Given the description of an element on the screen output the (x, y) to click on. 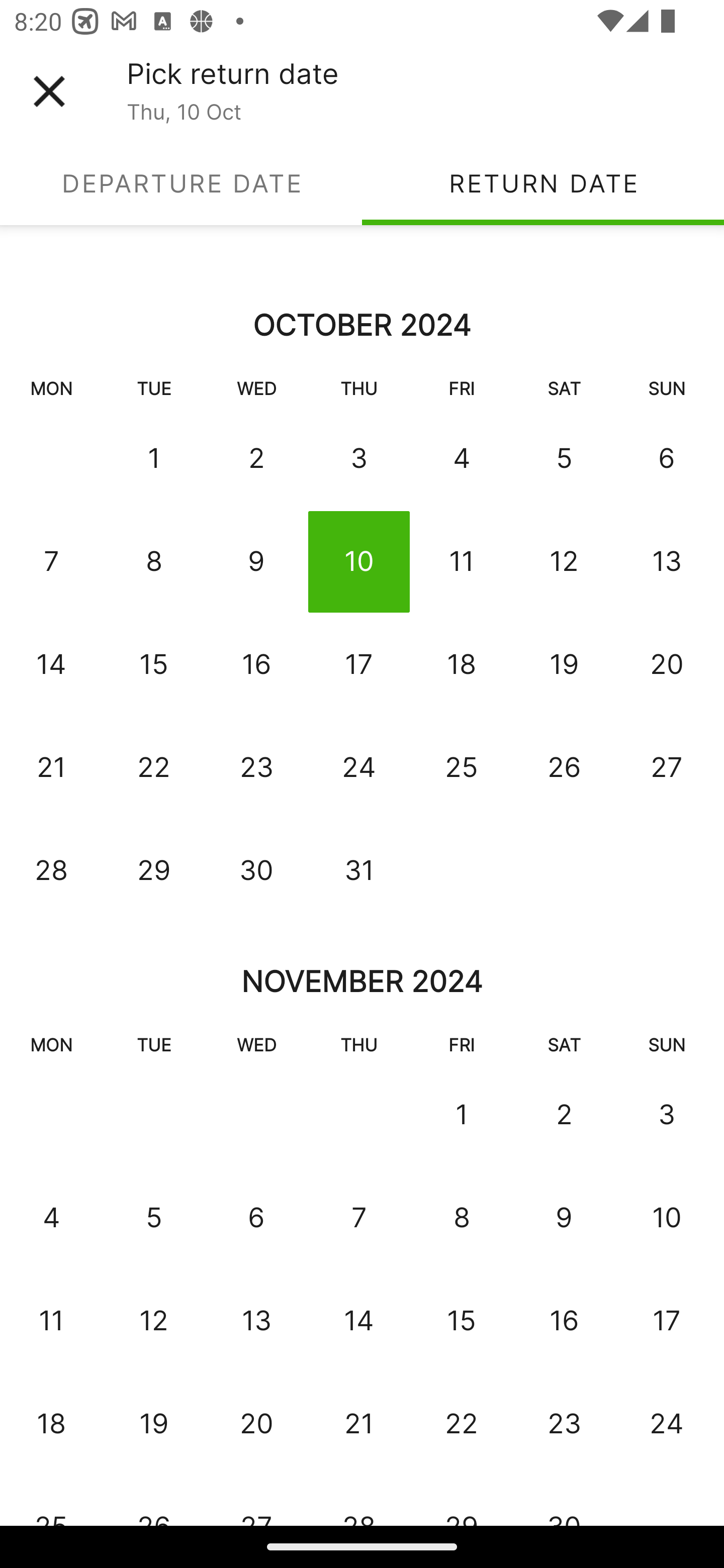
Departure Date DEPARTURE DATE (181, 183)
